Given the description of an element on the screen output the (x, y) to click on. 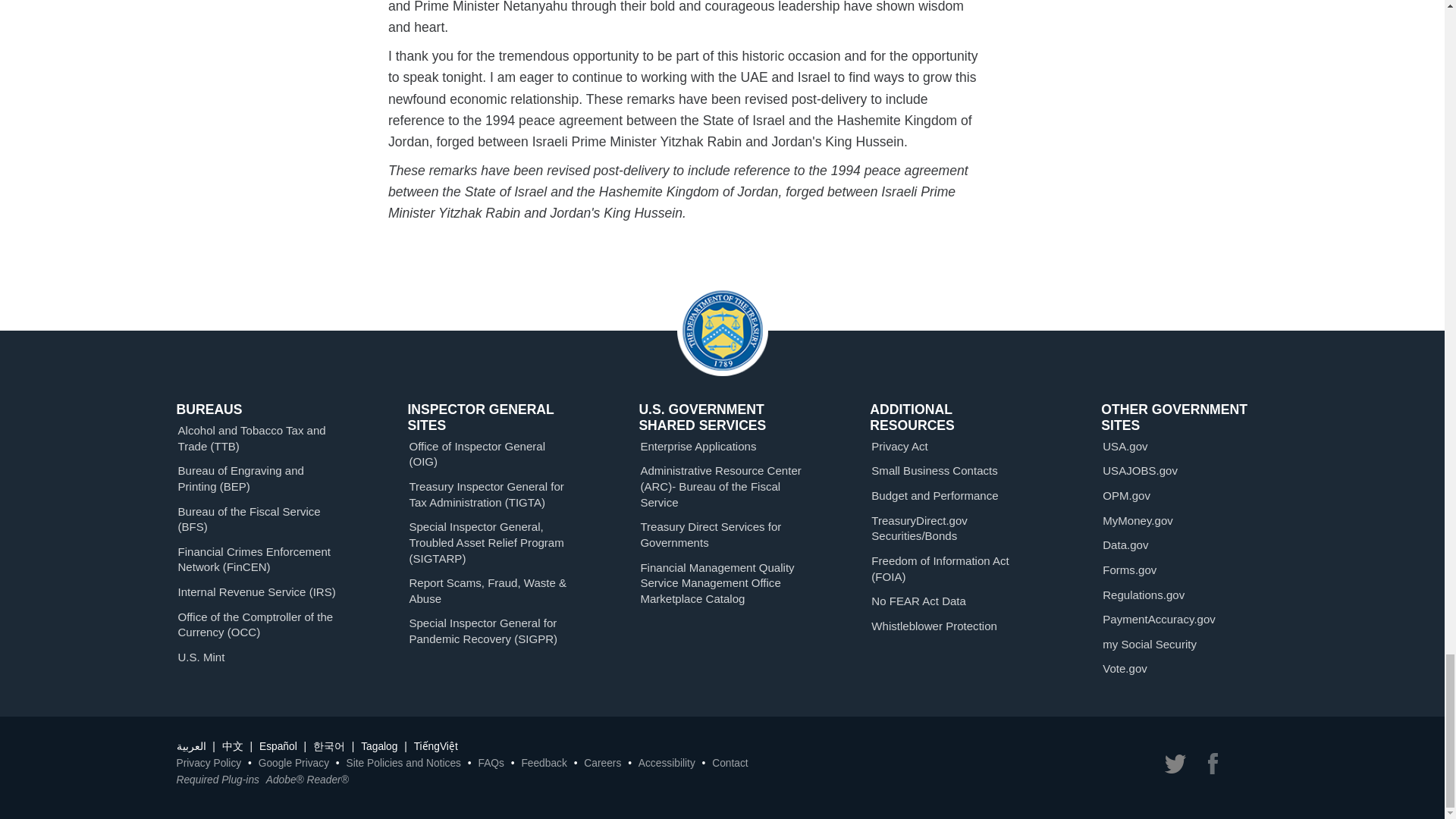
Privacy Policy (208, 763)
Tagalog (379, 746)
Chinese (232, 746)
Korean (329, 746)
Accessibility (667, 763)
Vietnamese (435, 746)
Google Privacy (294, 763)
Feedback (543, 763)
Spanish (278, 746)
FAQs (490, 763)
Site Policies and Notices (403, 763)
Arabic (190, 746)
Careers (602, 763)
